Given the description of an element on the screen output the (x, y) to click on. 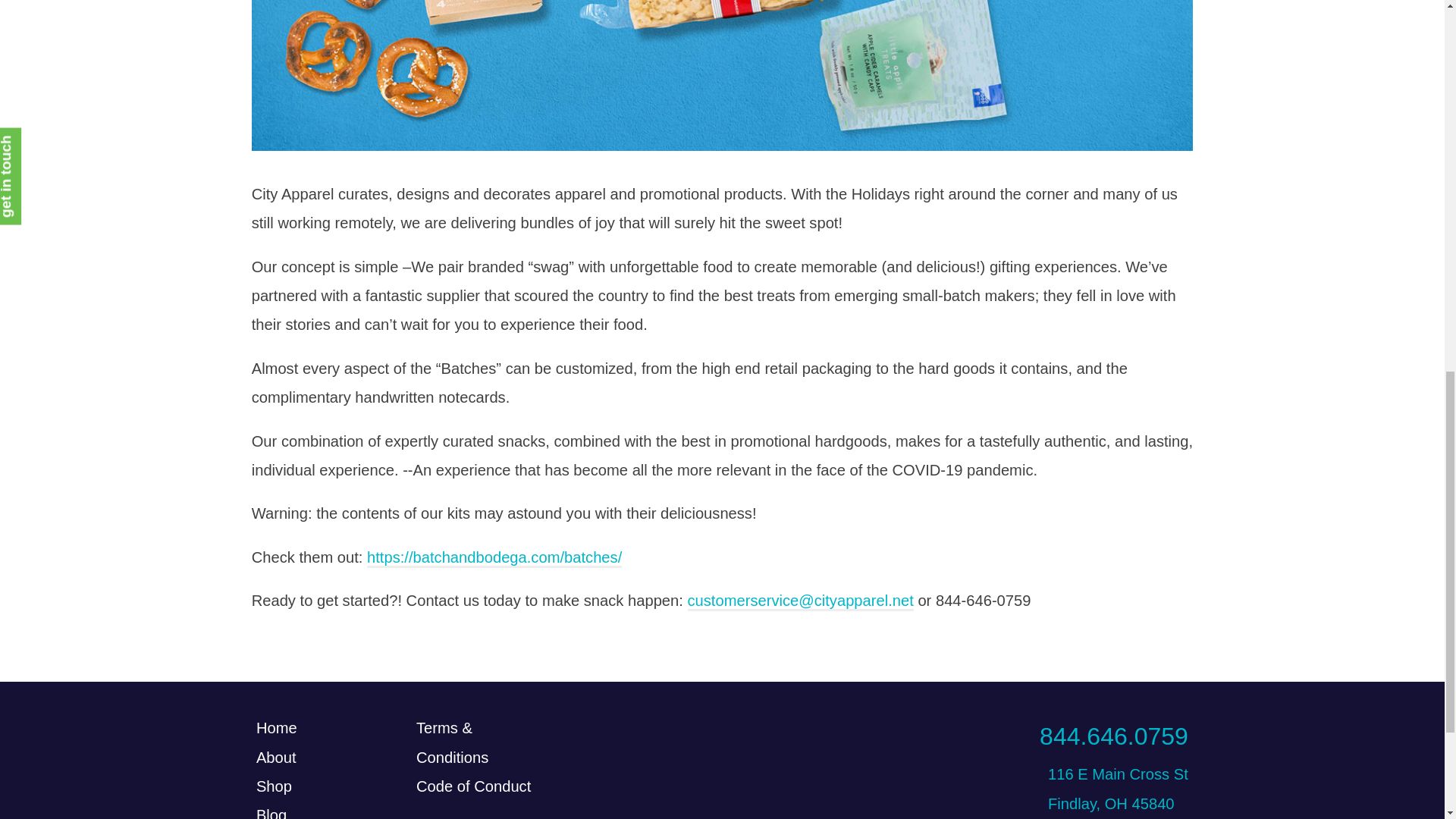
Code of Conduct (473, 786)
Home (276, 727)
Blog (271, 812)
About (276, 757)
Shop (274, 786)
